Given the description of an element on the screen output the (x, y) to click on. 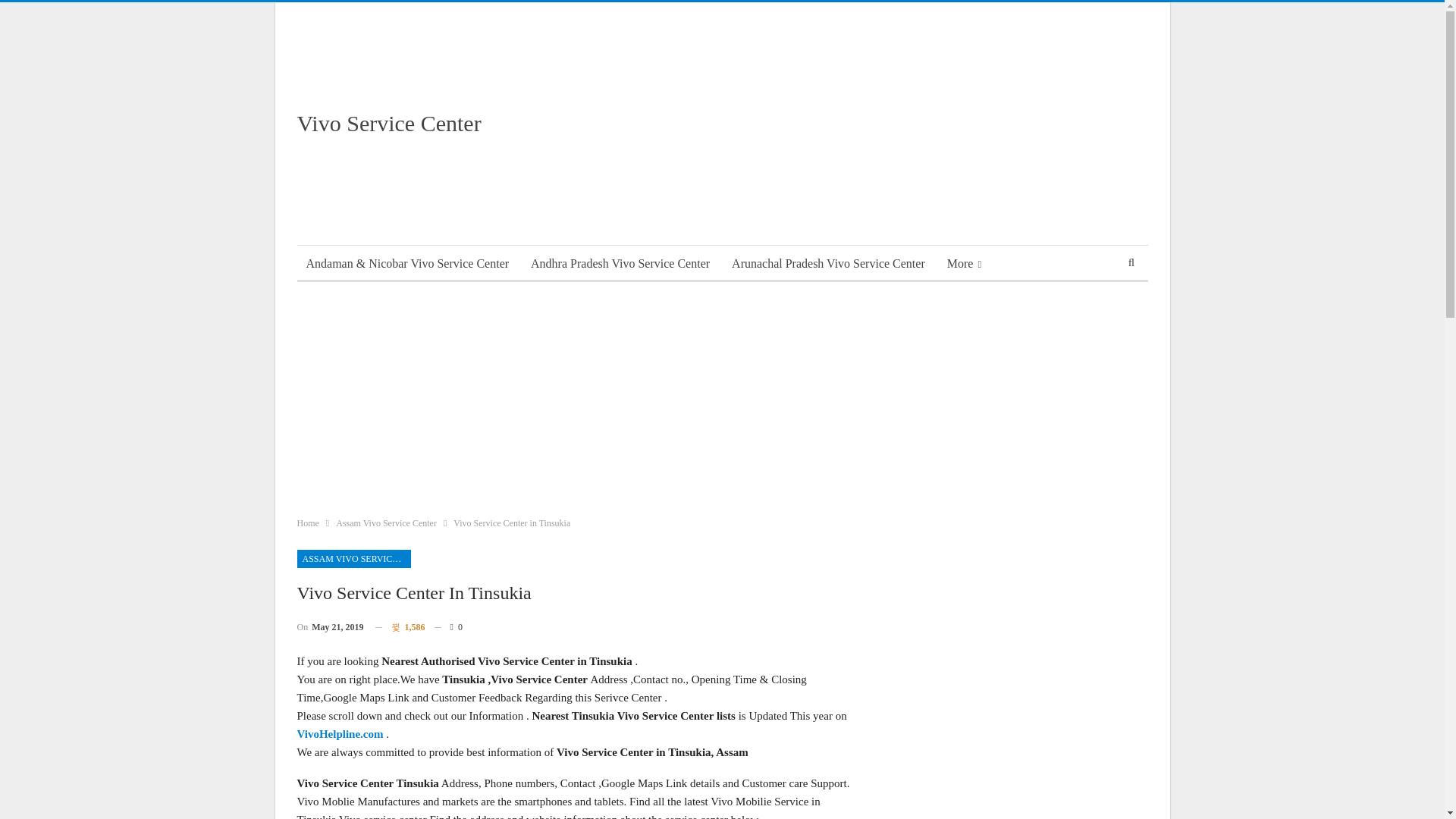
Andhra Pradesh Vivo Service Center (620, 263)
More (963, 263)
Advertisement (870, 123)
Arunachal Pradesh Vivo Service Center (828, 263)
Vivo Service Center (389, 122)
